Given the description of an element on the screen output the (x, y) to click on. 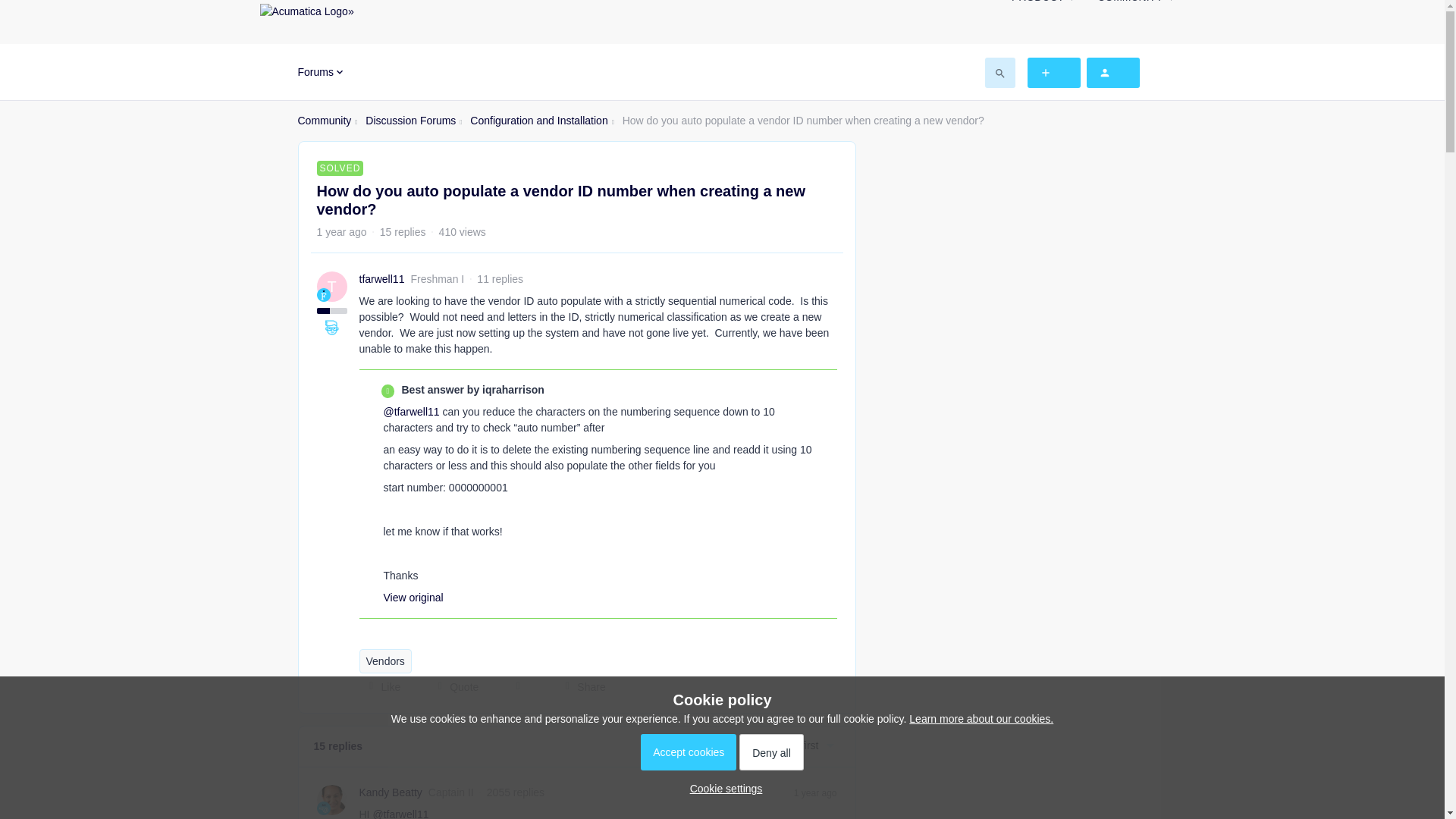
Forums (321, 71)
COMMUNITY (1135, 6)
PRODUCT (1042, 6)
